Given the description of an element on the screen output the (x, y) to click on. 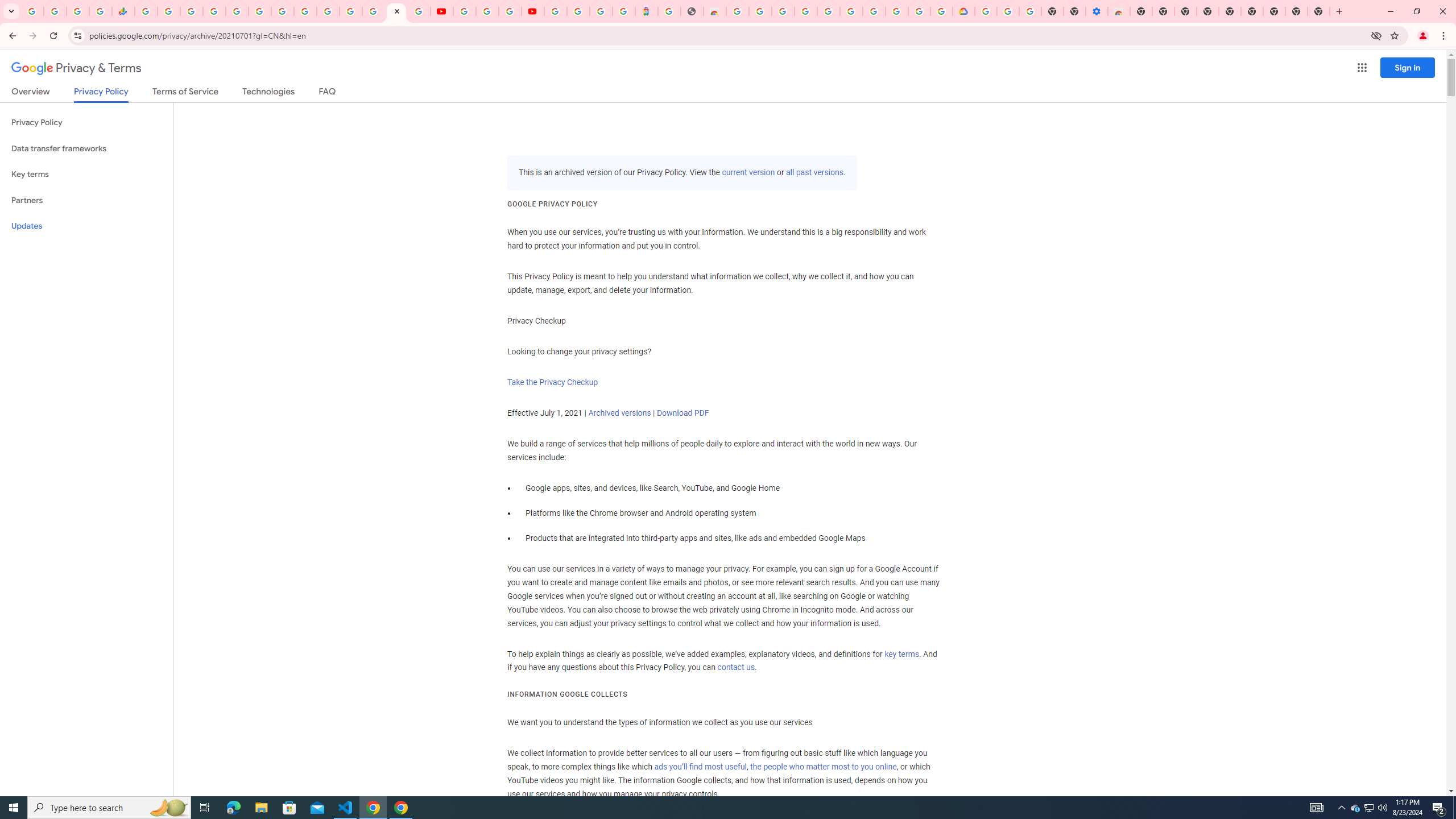
Content Creator Programs & Opportunities - YouTube Creators (532, 11)
YouTube (441, 11)
Archived versions (619, 412)
Privacy Checkup (419, 11)
YouTube (304, 11)
New Tab (1319, 11)
